Given the description of an element on the screen output the (x, y) to click on. 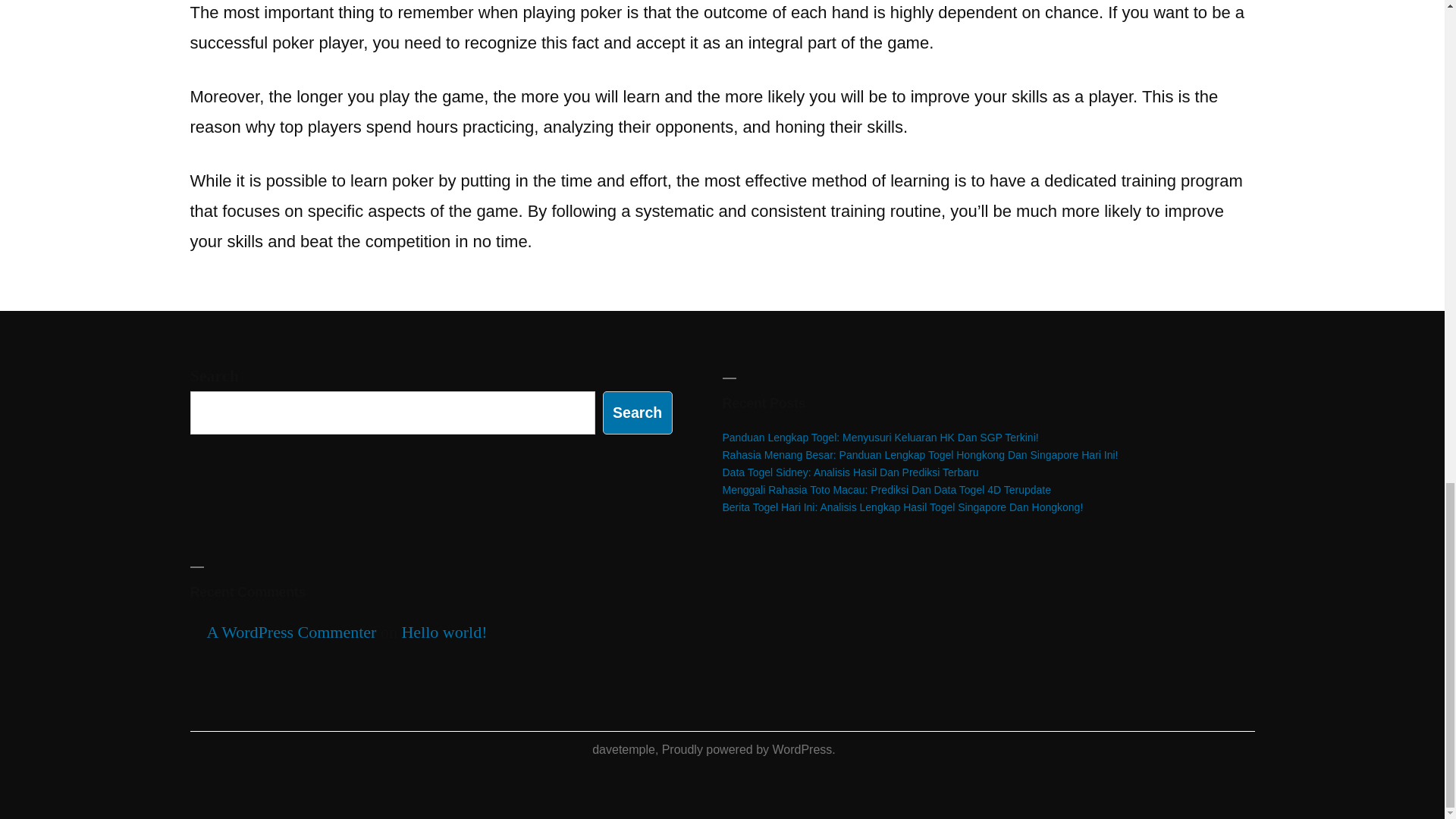
Search (637, 412)
davetemple (623, 748)
Proudly powered by WordPress. (748, 748)
Hello world! (443, 631)
A WordPress Commenter (290, 631)
Data Togel Sidney: Analisis Hasil Dan Prediksi Terbaru (850, 472)
